Given the description of an element on the screen output the (x, y) to click on. 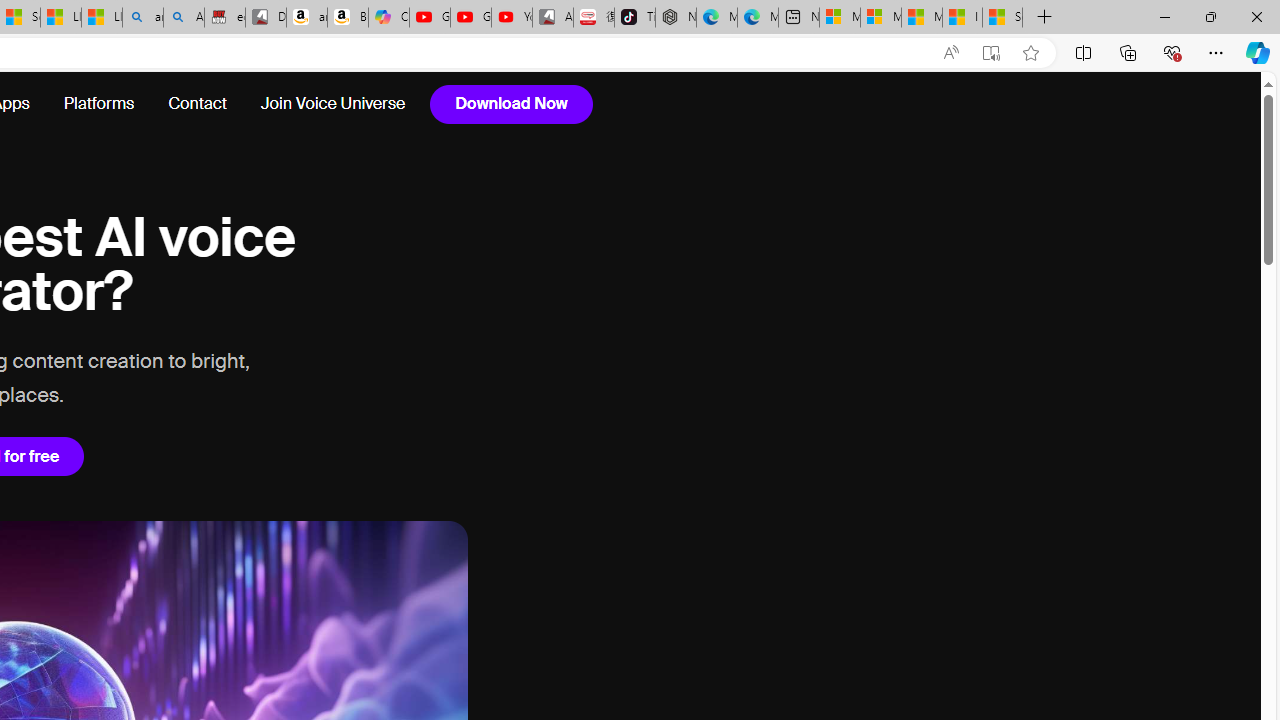
Platforms (98, 103)
Contact (196, 103)
